Given the description of an element on the screen output the (x, y) to click on. 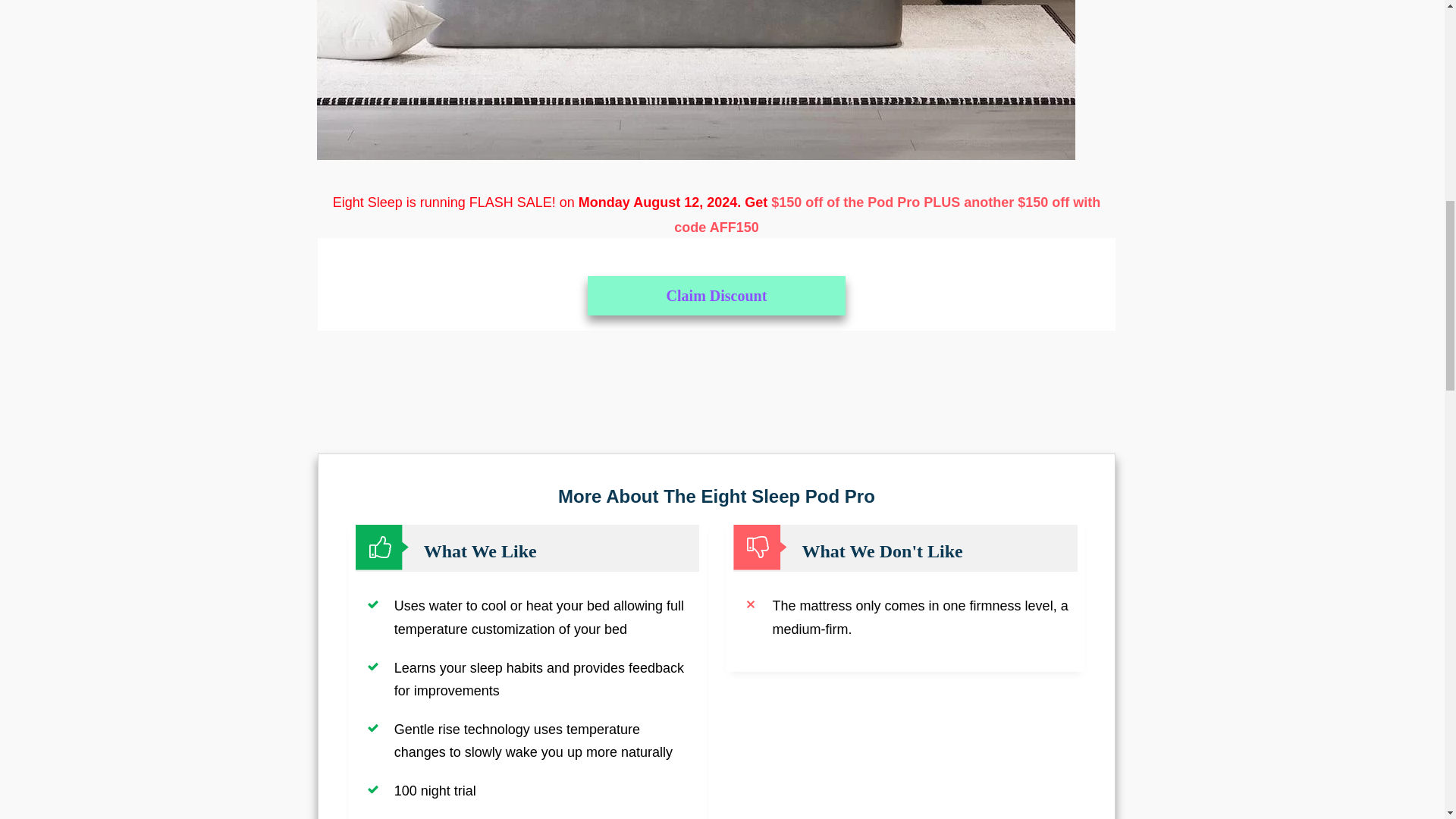
More About The Eight Sleep Pod Pro (716, 496)
Claim Discount (716, 295)
Eight Sleep Pod (696, 79)
